Given the description of an element on the screen output the (x, y) to click on. 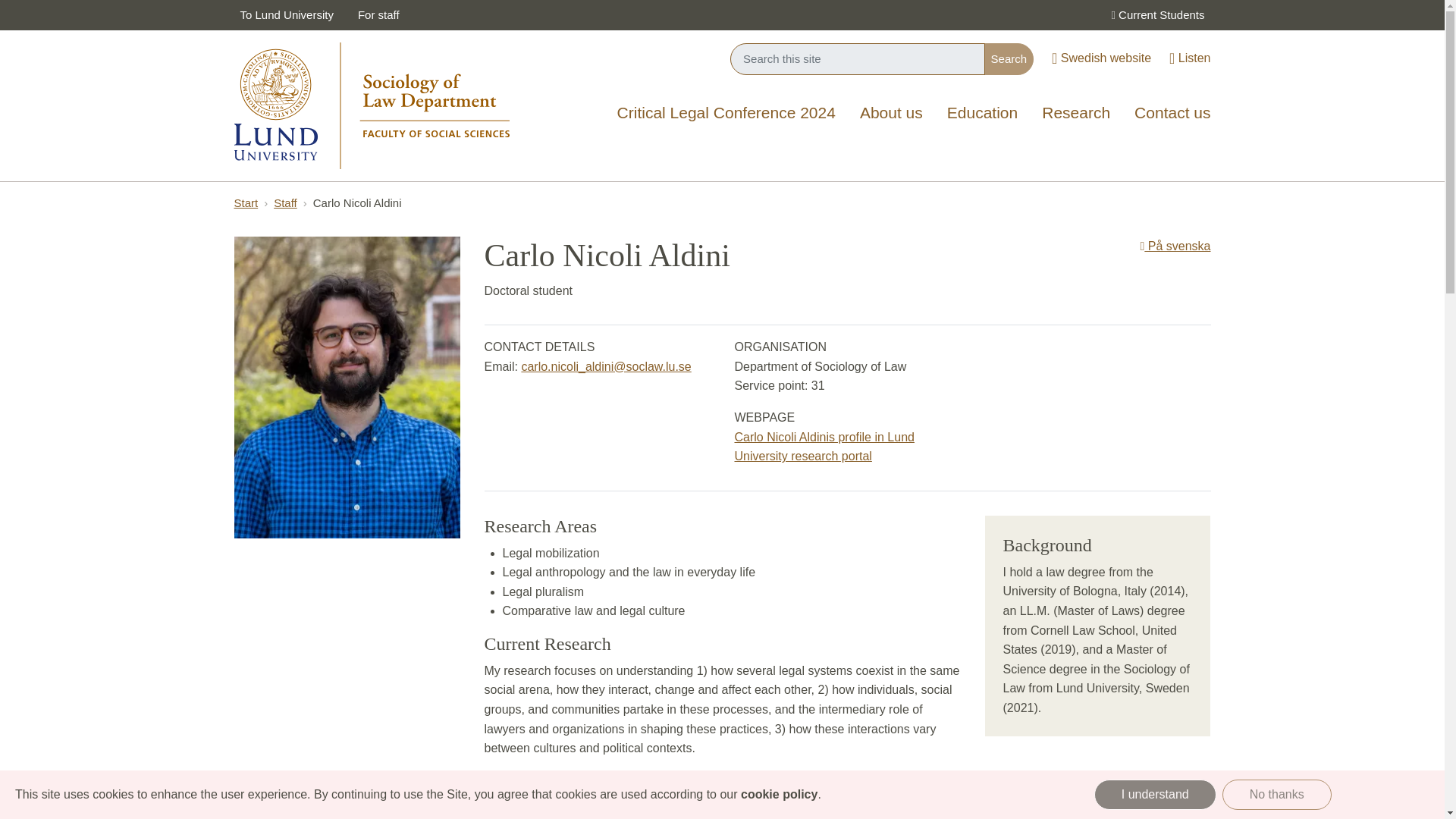
I understand (1154, 794)
Listen (1189, 59)
cookie policy (778, 793)
Current Students (1155, 15)
No thanks (1277, 794)
Search (1008, 59)
Research (1075, 113)
To Lund University (286, 15)
Swedish website (1101, 59)
Critical Legal Conference 2024 (726, 113)
For staff (379, 15)
Search (1008, 59)
About us (890, 113)
Contact us (1172, 113)
Education (981, 113)
